Given the description of an element on the screen output the (x, y) to click on. 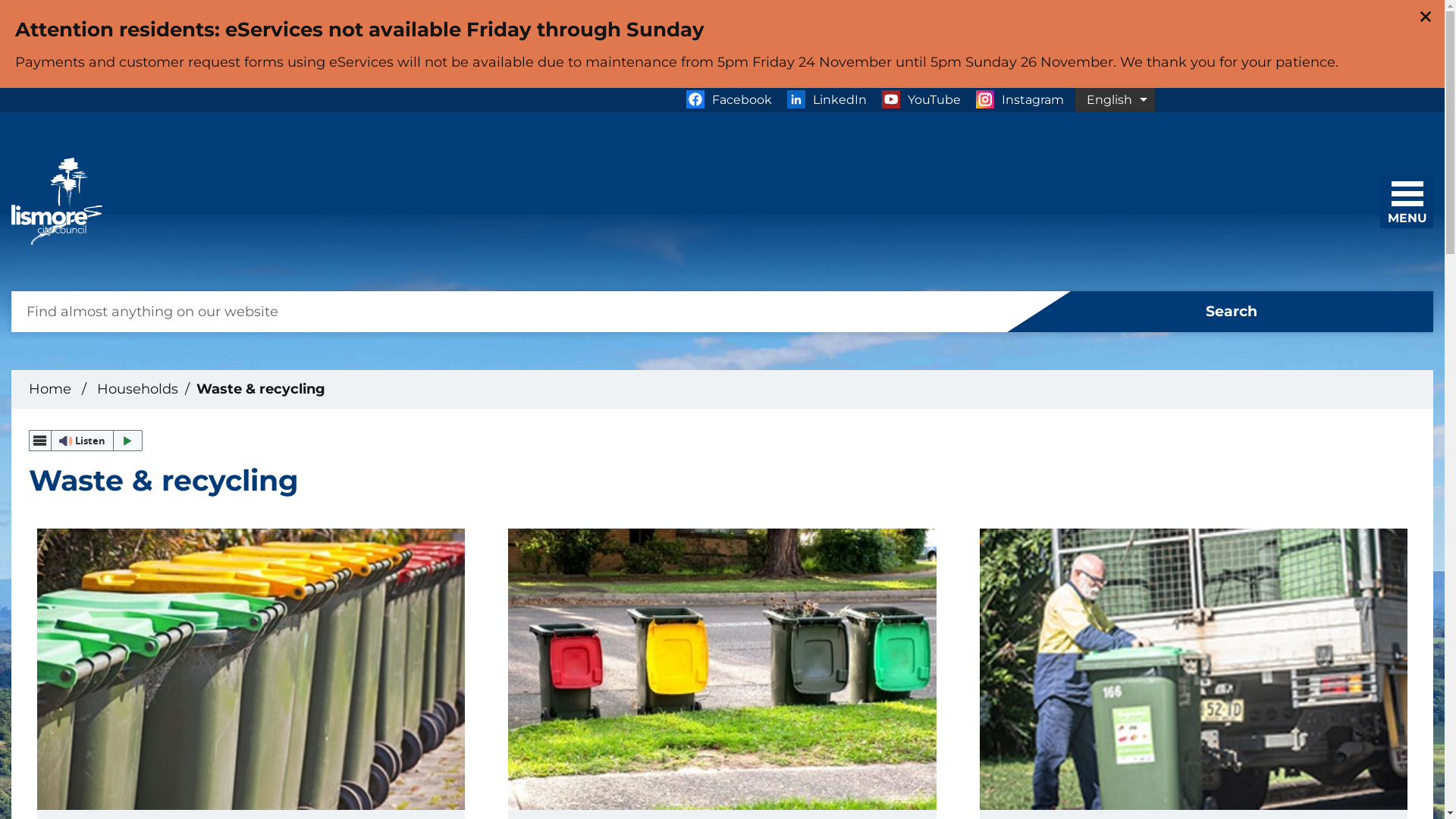
Households Element type: text (137, 388)
Your current preferred language is
English Element type: text (1114, 99)
Listen Element type: text (85, 440)
YouTube Element type: text (920, 99)
Close this announcement Element type: text (1425, 16)
MENU Element type: text (1410, 196)
Search Element type: text (1220, 311)
Home - Lismore City Council - Logo Element type: text (56, 201)
Instagram Element type: text (1019, 99)
Facebook Element type: text (728, 99)
webReader menu Element type: hover (39, 440)
LinkedIn Element type: text (826, 99)
Home Element type: text (49, 388)
